Given the description of an element on the screen output the (x, y) to click on. 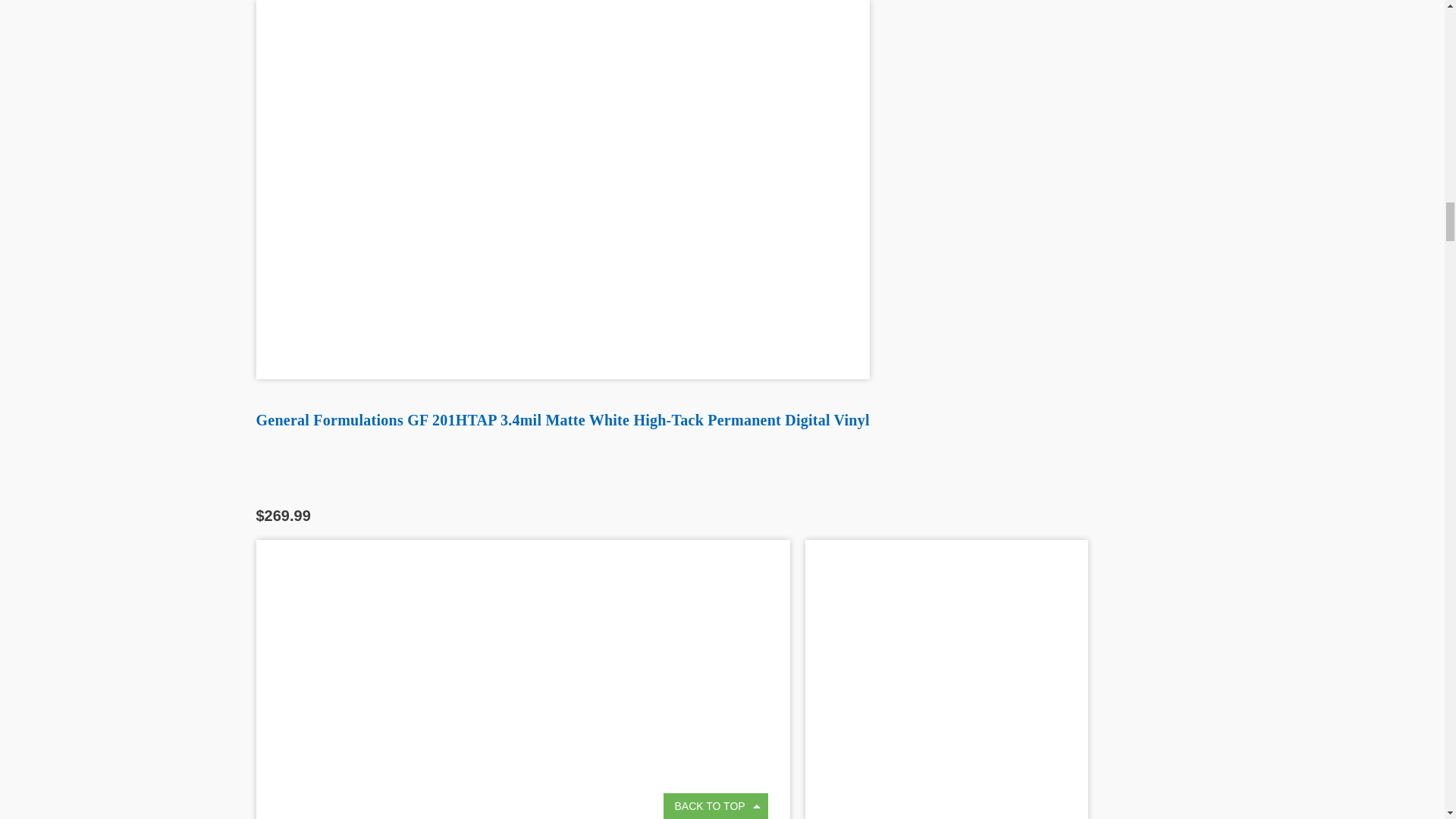
ORAJET 3258 Semi Rigid 6 mil PVC Film (946, 679)
